Given the description of an element on the screen output the (x, y) to click on. 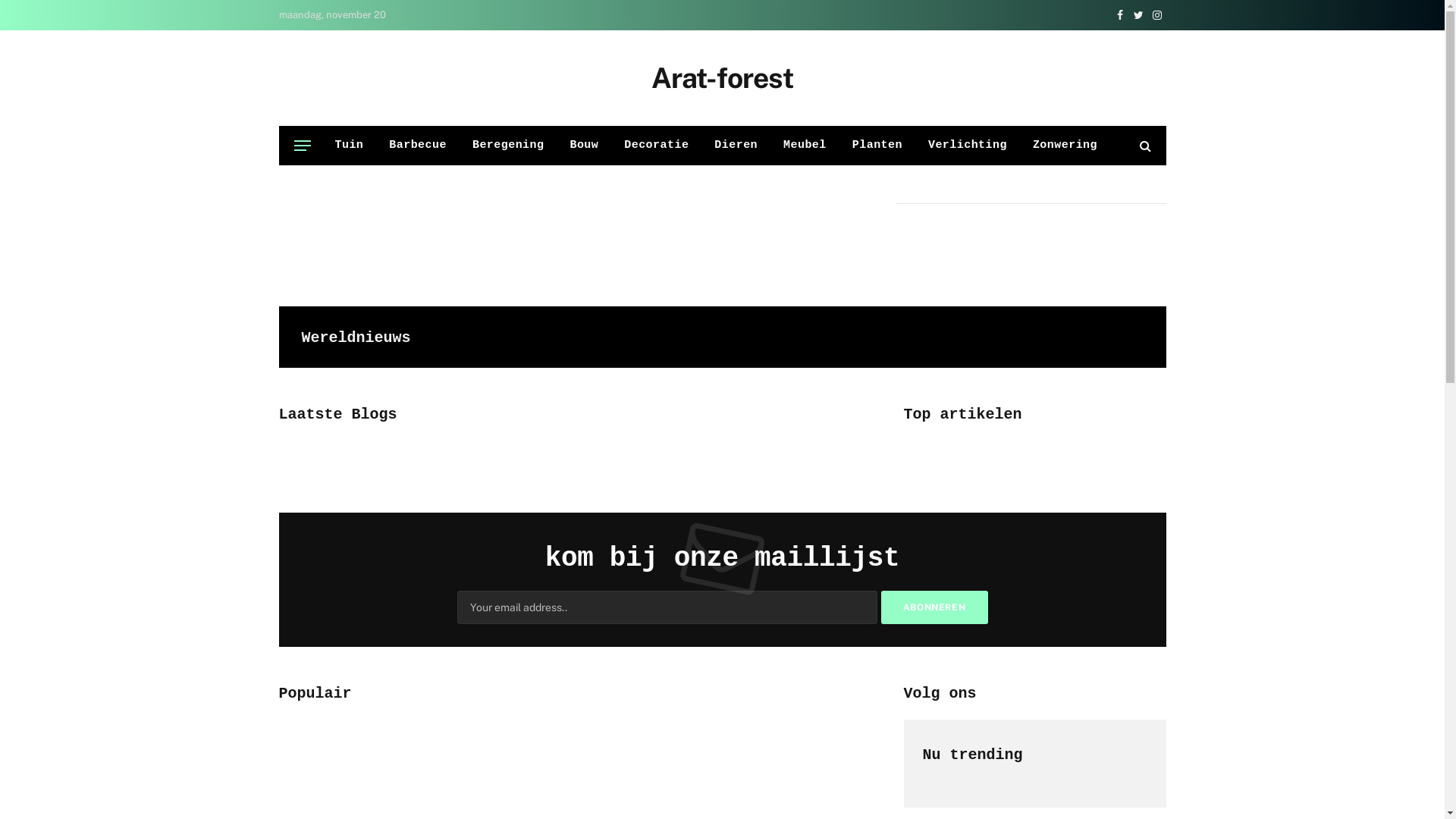
Barbecue Element type: text (417, 145)
Tuin Element type: text (348, 145)
Beregening Element type: text (508, 145)
Zonwering Element type: text (1064, 145)
Search Element type: hover (1142, 145)
Arat-forest Element type: text (722, 77)
Facebook Element type: text (1119, 15)
Decoratie Element type: text (656, 145)
Twitter Element type: text (1138, 15)
Verlichting Element type: text (967, 145)
Dieren Element type: text (735, 145)
Abonneren Element type: text (934, 607)
Meubel Element type: text (804, 145)
Bouw Element type: text (583, 145)
Instagram Element type: text (1157, 15)
Planten Element type: text (877, 145)
